Given the description of an element on the screen output the (x, y) to click on. 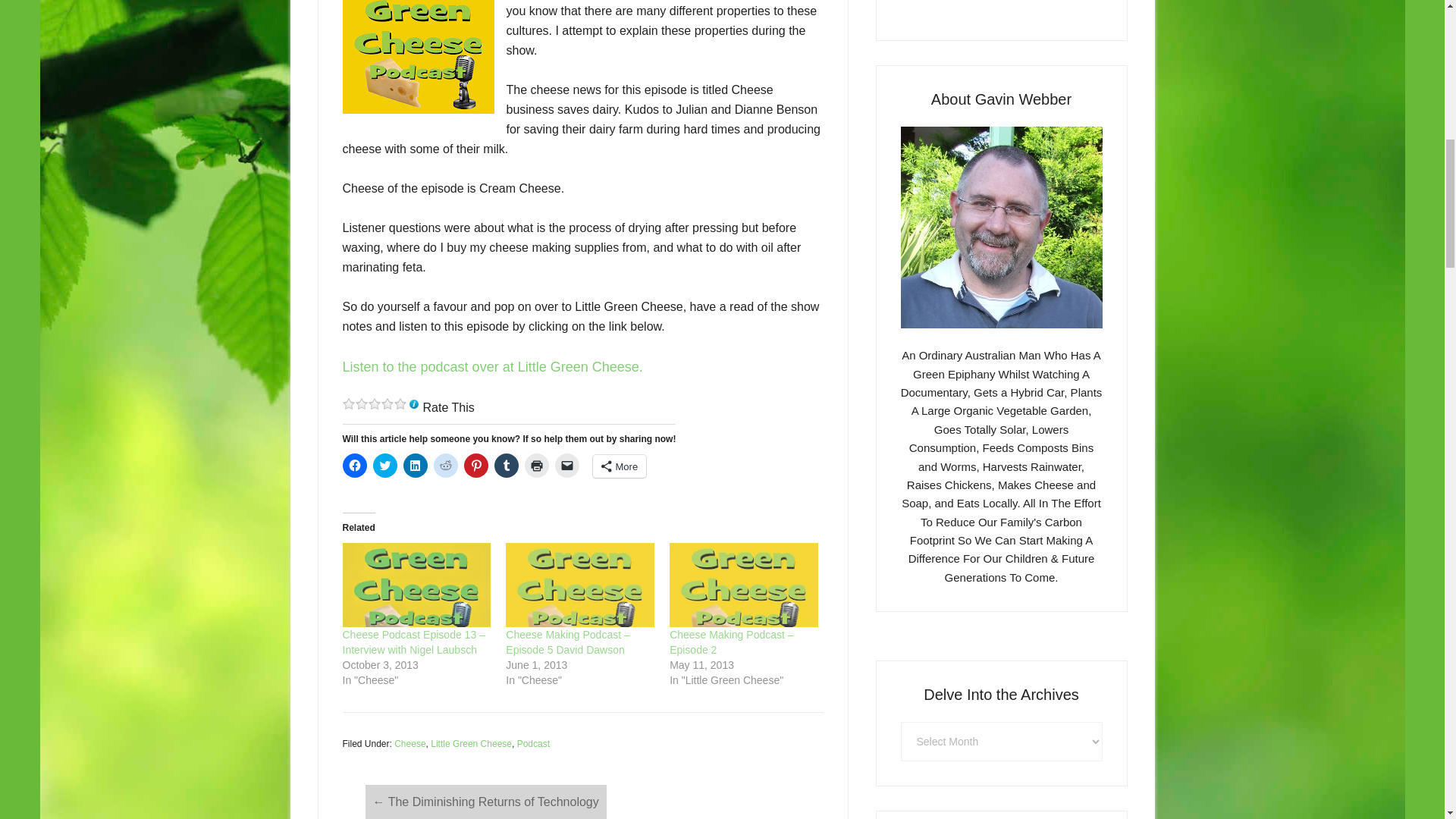
Click to share on Pinterest (475, 465)
Click to email a link to a friend (566, 465)
Listen to the podcast over at Little Green Cheese. (492, 366)
Click to share on Tumblr (506, 465)
Click to print (536, 465)
Click to share on Facebook (354, 465)
Click to share on Reddit (445, 465)
Click to share on Twitter (384, 465)
Click to share on LinkedIn (415, 465)
